Given the description of an element on the screen output the (x, y) to click on. 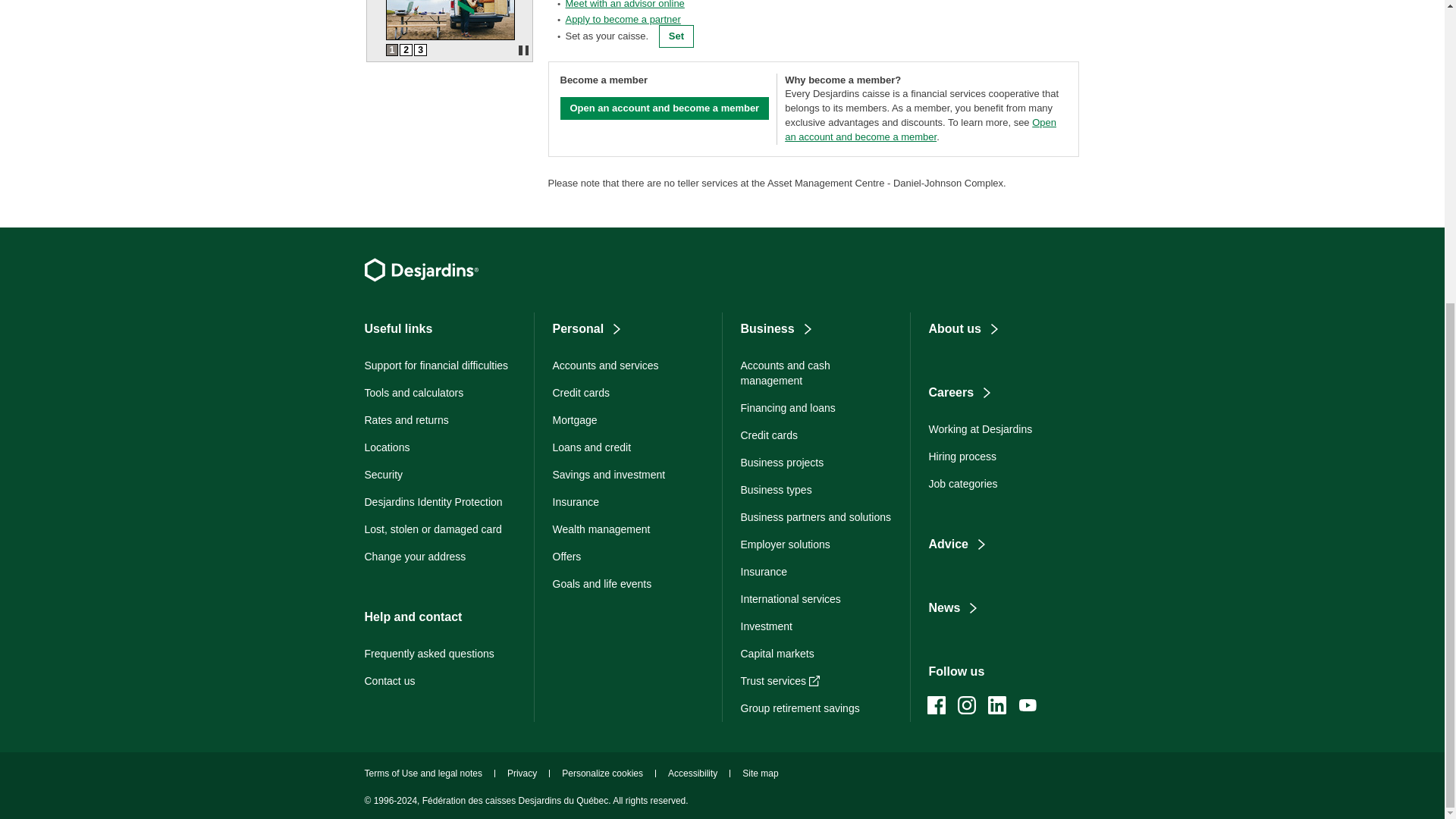
Set (676, 36)
Your Caisse is open on Saturdays (405, 50)
2023 annual report (391, 50)
Meet with an advisor online (624, 4)
2023 annual report (449, 36)
Pause promotion slide show (521, 50)
Week end phone service at the Caisse (419, 50)
